Given the description of an element on the screen output the (x, y) to click on. 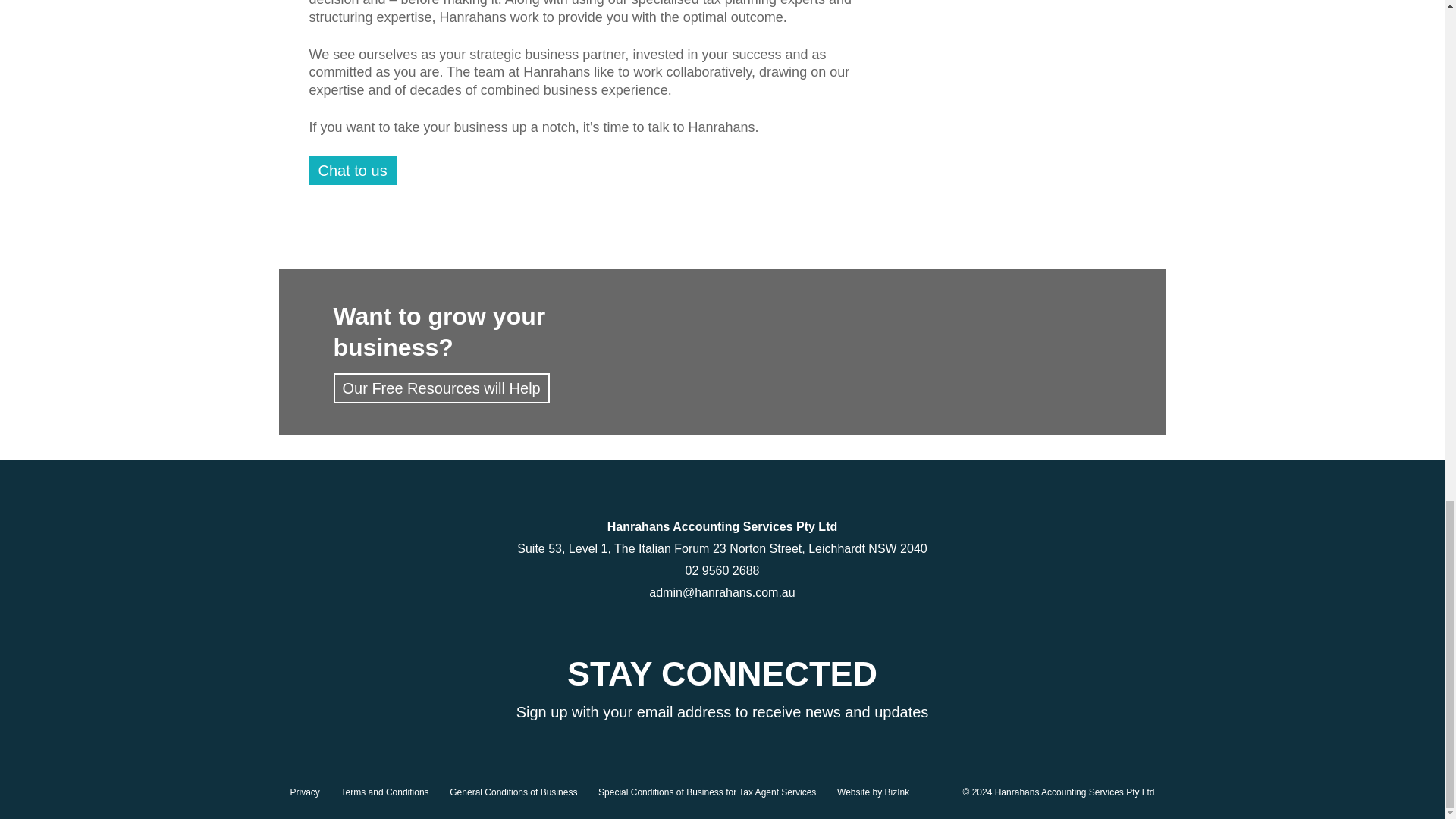
02 9560 2688 (721, 571)
Chat to us (352, 170)
Our Free Resources will Help (441, 388)
